Given the description of an element on the screen output the (x, y) to click on. 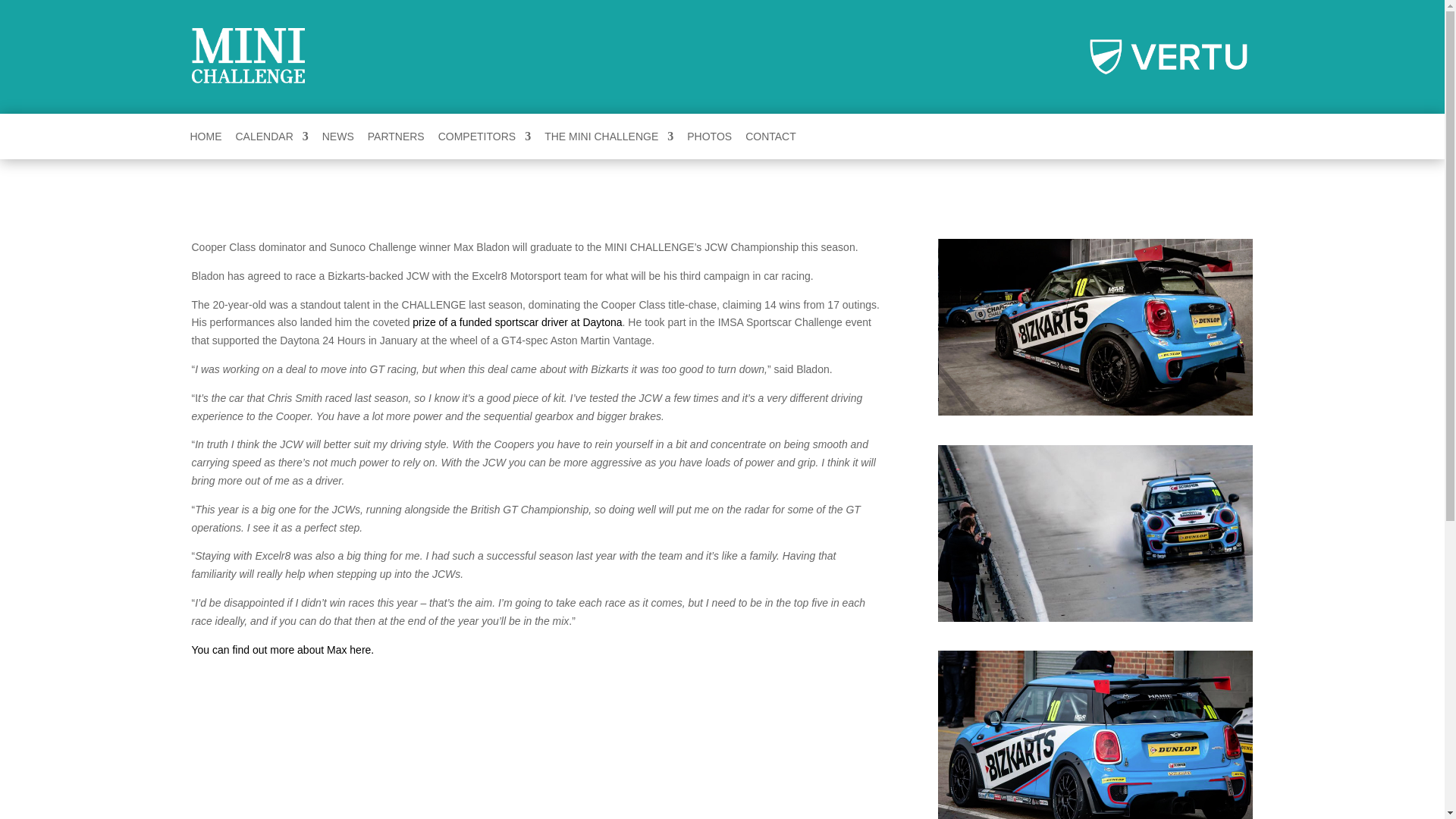
vertu (1169, 56)
